Given the description of an element on the screen output the (x, y) to click on. 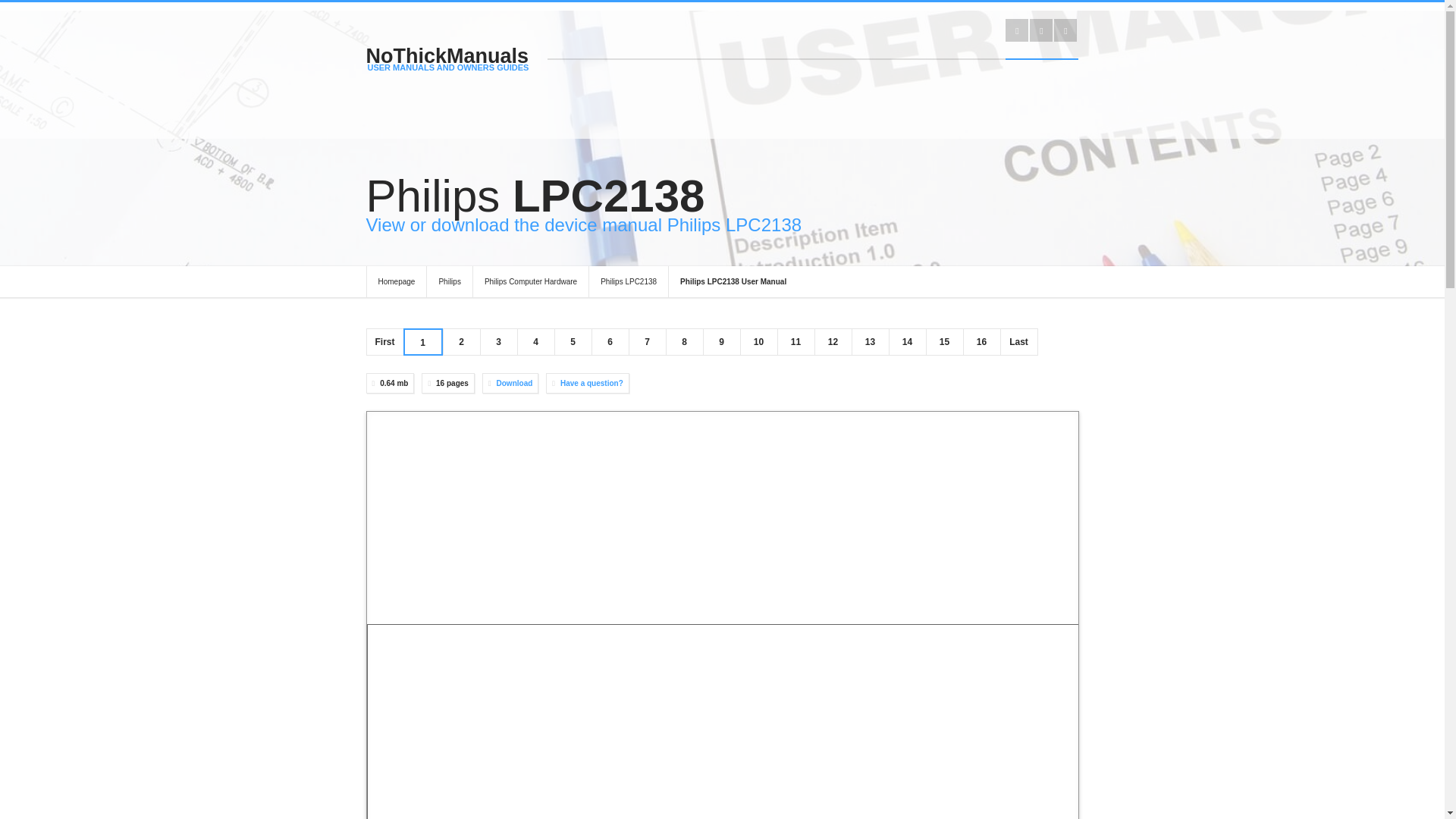
13 (869, 341)
16 (981, 341)
9 (721, 341)
Philips LPC2138 User Manual (732, 281)
6 (609, 341)
10 (758, 341)
1 (422, 342)
8 (684, 341)
5 (572, 341)
3 (498, 341)
Philips (448, 281)
Download (514, 383)
Last (1018, 341)
Homepage (395, 281)
14 (907, 341)
